Given the description of an element on the screen output the (x, y) to click on. 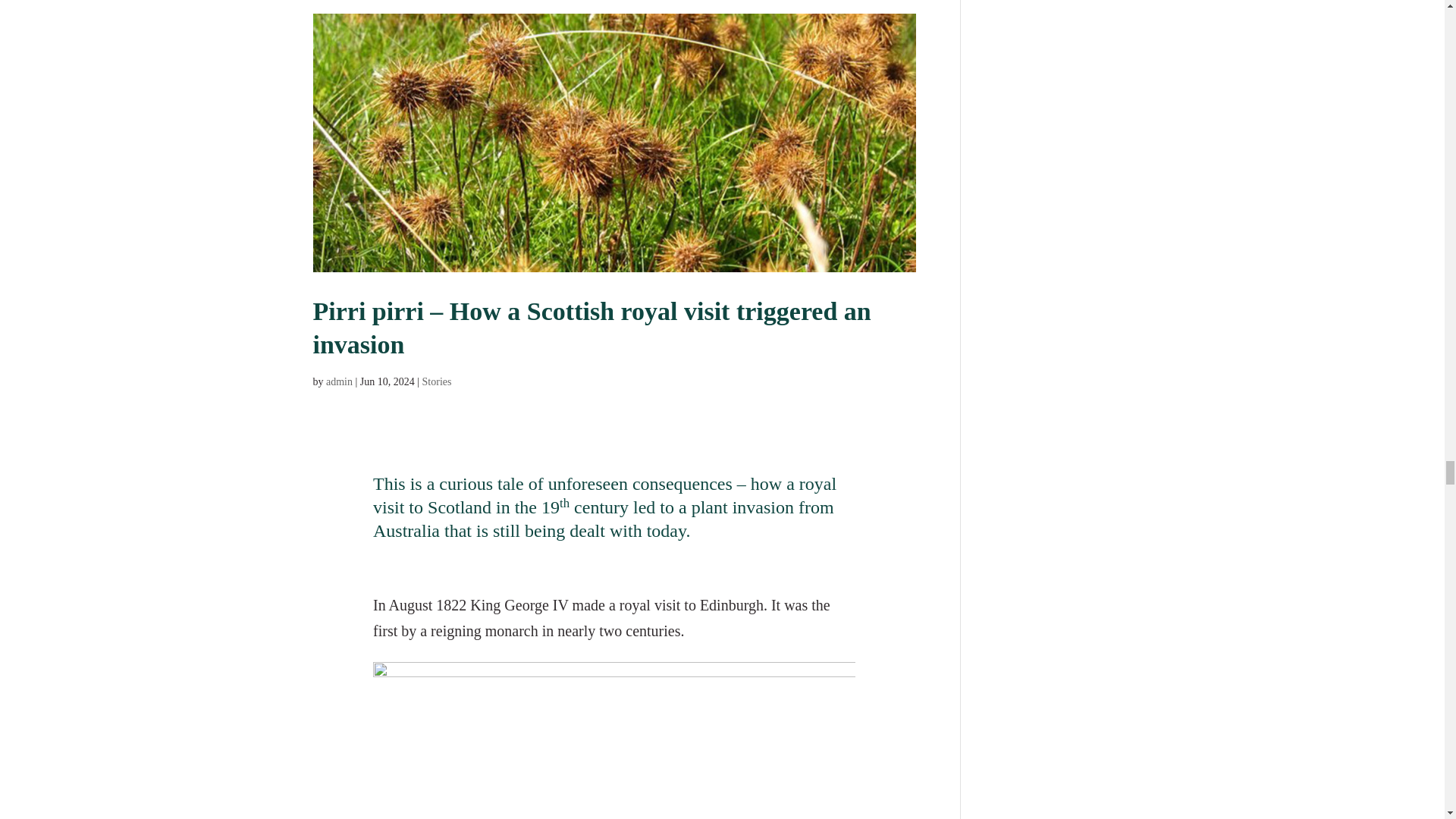
Posts by admin (339, 381)
